Given the description of an element on the screen output the (x, y) to click on. 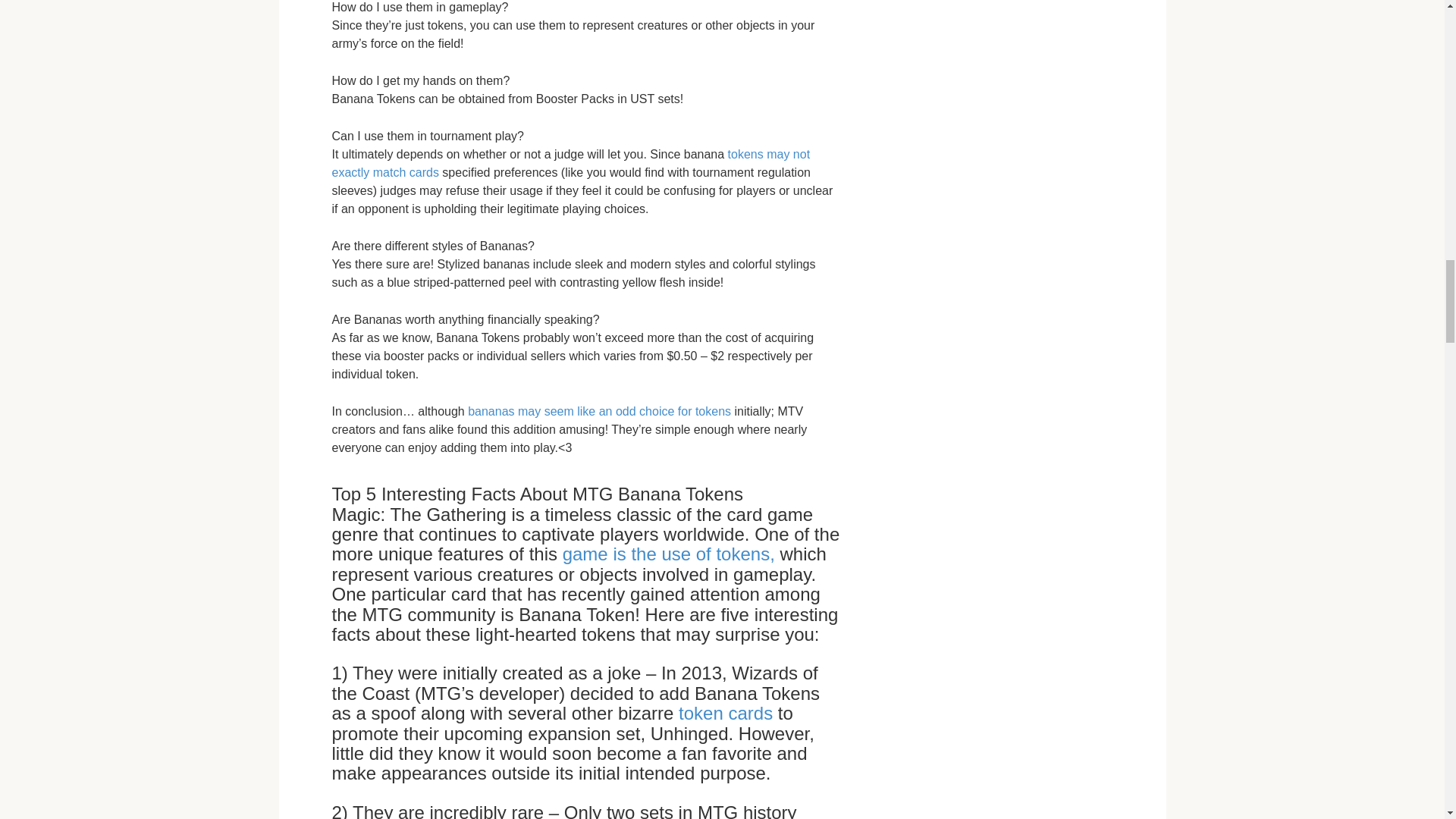
tokens may not exactly match cards (570, 163)
bananas may seem like an odd choice for tokens (598, 410)
game is the use of tokens, (668, 553)
token cards (725, 712)
